Given the description of an element on the screen output the (x, y) to click on. 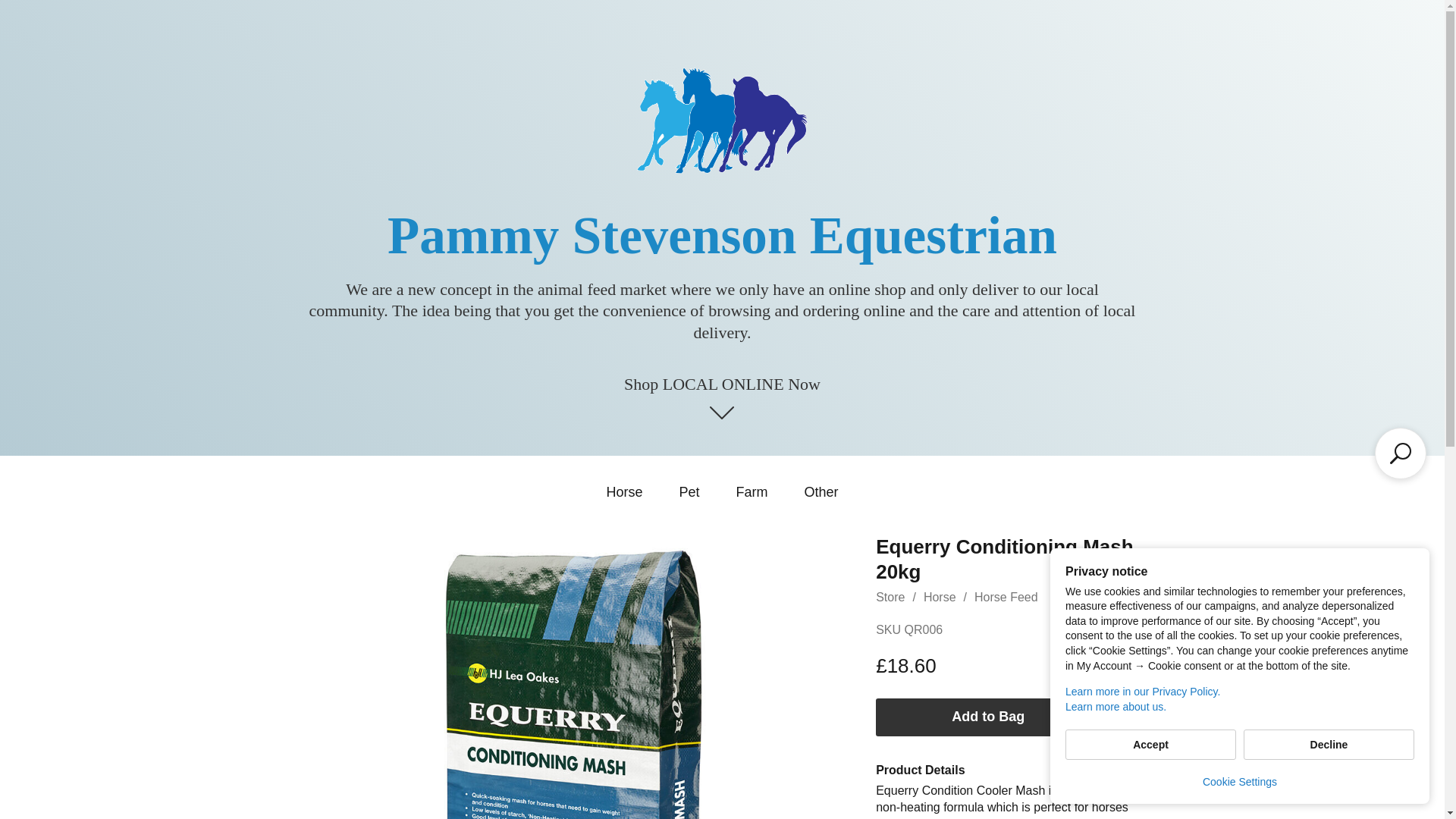
Store (890, 596)
Horse Feed (1006, 596)
Farm (751, 491)
Horse (623, 491)
Horse (939, 596)
Other (820, 491)
Add to Bag (988, 717)
